Given the description of an element on the screen output the (x, y) to click on. 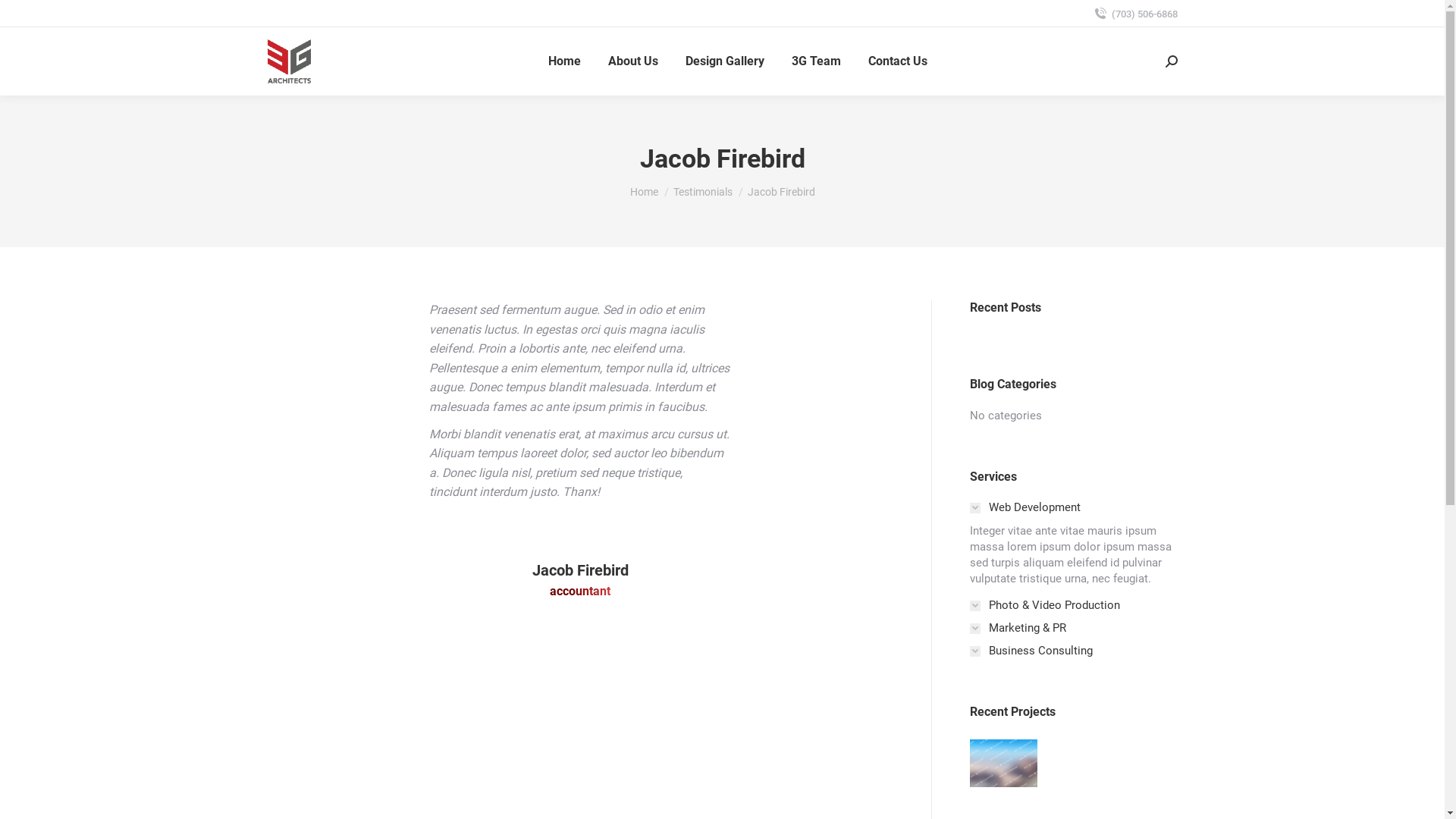
Testimonials Element type: text (702, 191)
Marketing & PR Element type: text (1017, 628)
Seven Mobile App Element type: hover (1003, 763)
About Us Element type: text (633, 60)
Home Element type: text (564, 60)
Photo & Video Production Element type: text (1044, 605)
Web Development Element type: text (1024, 507)
Home Element type: text (643, 191)
Go! Element type: text (23, 16)
Business Consulting Element type: text (1030, 650)
Contact Us Element type: text (897, 60)
3G Team Element type: text (816, 60)
Design Gallery Element type: text (724, 60)
